Given the description of an element on the screen output the (x, y) to click on. 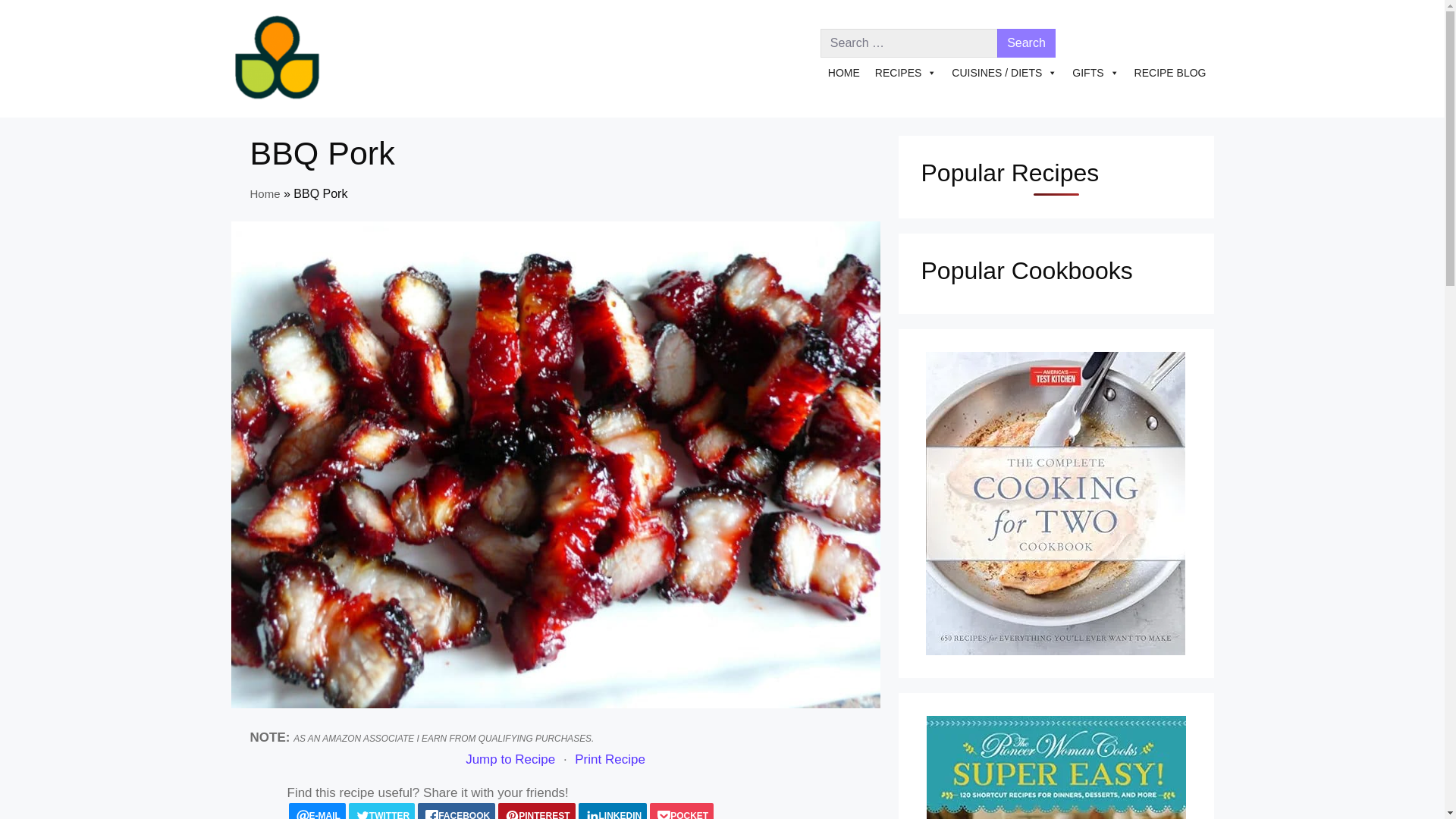
Search (1026, 42)
Jump to Recipe (509, 759)
Search (1026, 42)
HOME (844, 72)
Search (1026, 42)
RECIPES (905, 72)
